Given the description of an element on the screen output the (x, y) to click on. 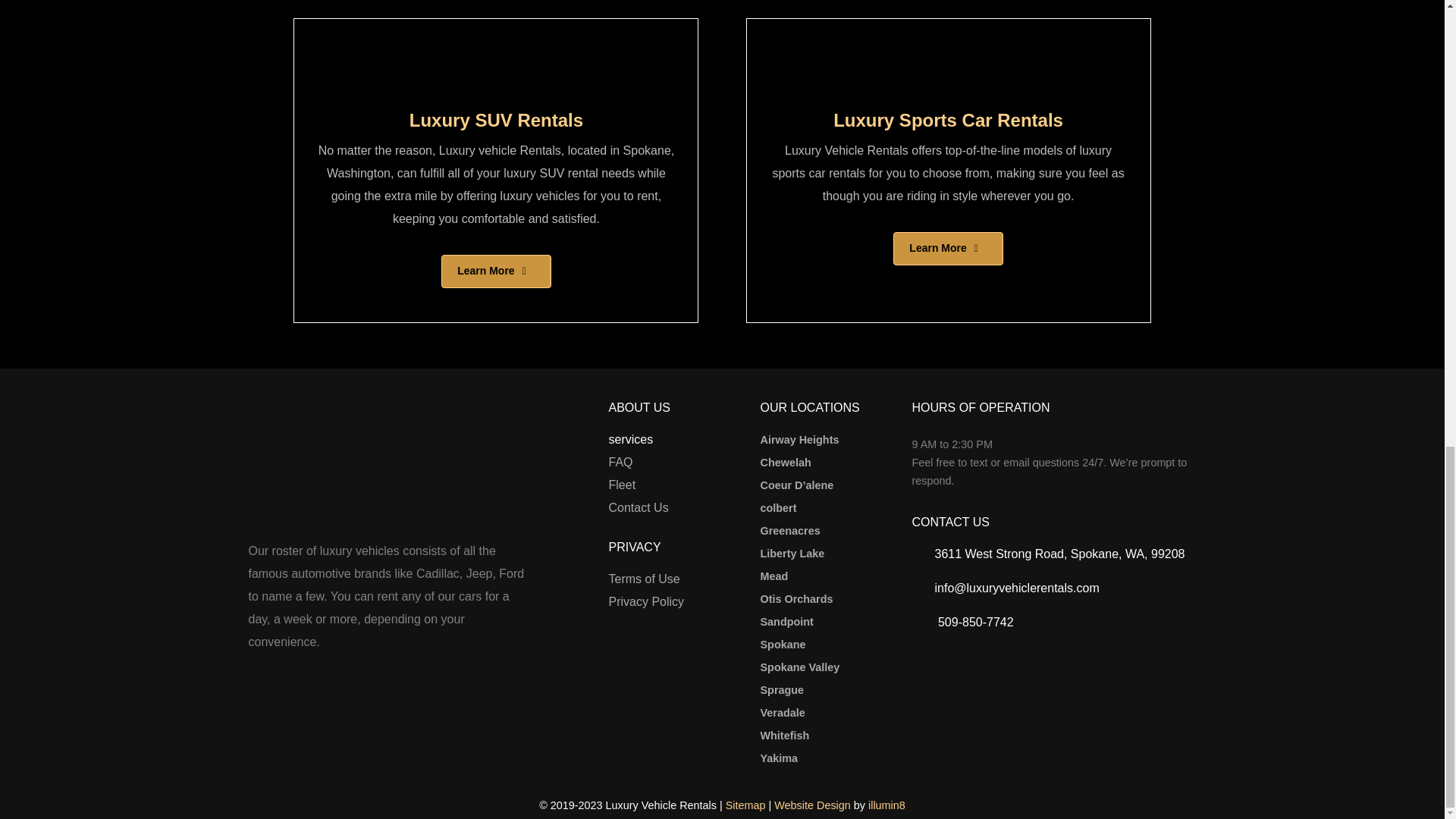
Fleet (621, 485)
services (630, 439)
FAQ (619, 462)
Privacy Policy (646, 601)
Learn More (495, 271)
Terms of Use (643, 579)
Learn More (948, 248)
logo-luxury (309, 469)
Contact Us (638, 507)
